Given the description of an element on the screen output the (x, y) to click on. 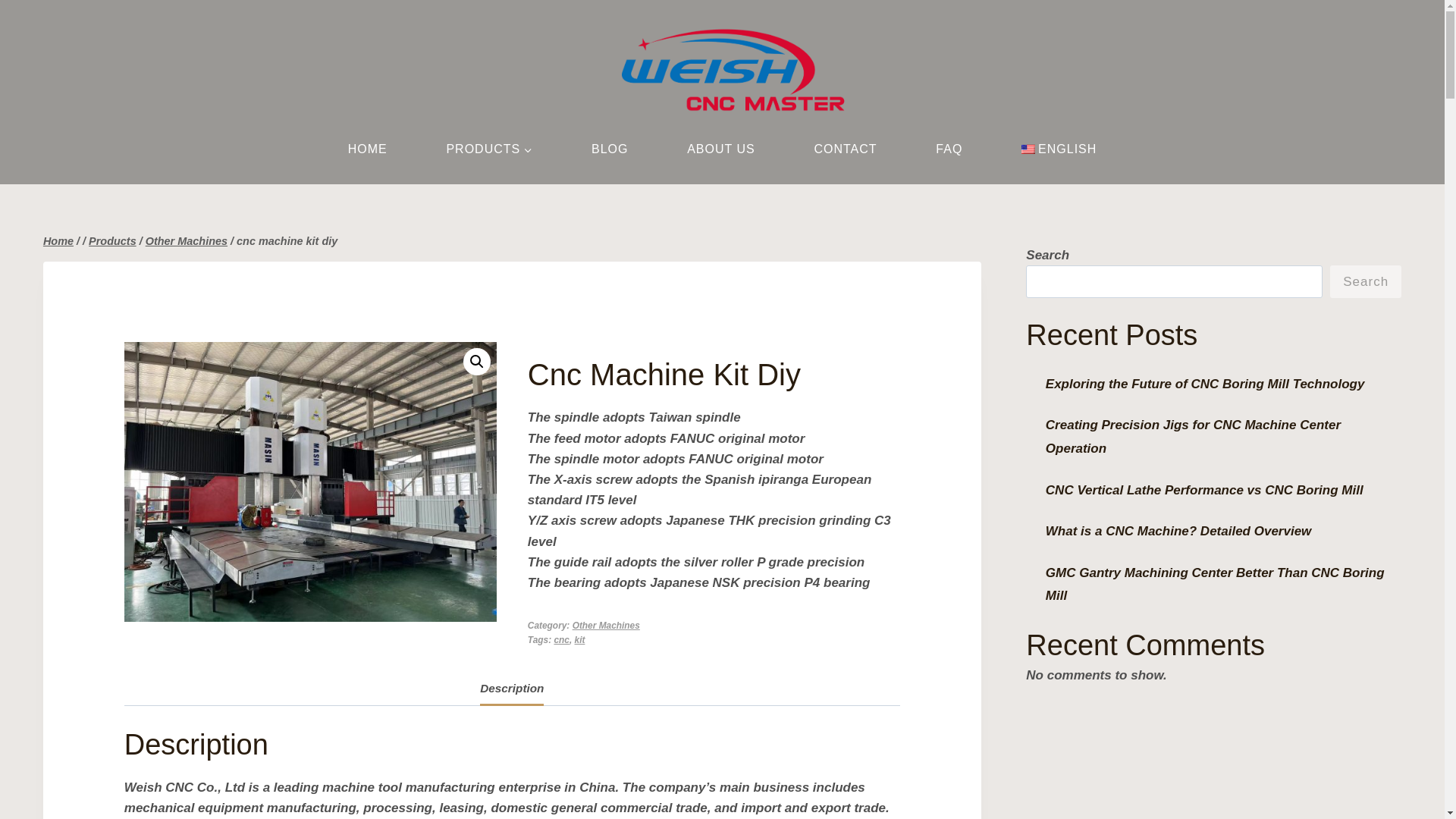
Home (58, 241)
Other Machines (186, 241)
FAQ (948, 149)
HOME (367, 149)
BLOG (610, 149)
CONTACT (845, 149)
Products (112, 241)
PRODUCTS (489, 149)
ABOUT US (721, 149)
ENGLISH (1058, 149)
